Given the description of an element on the screen output the (x, y) to click on. 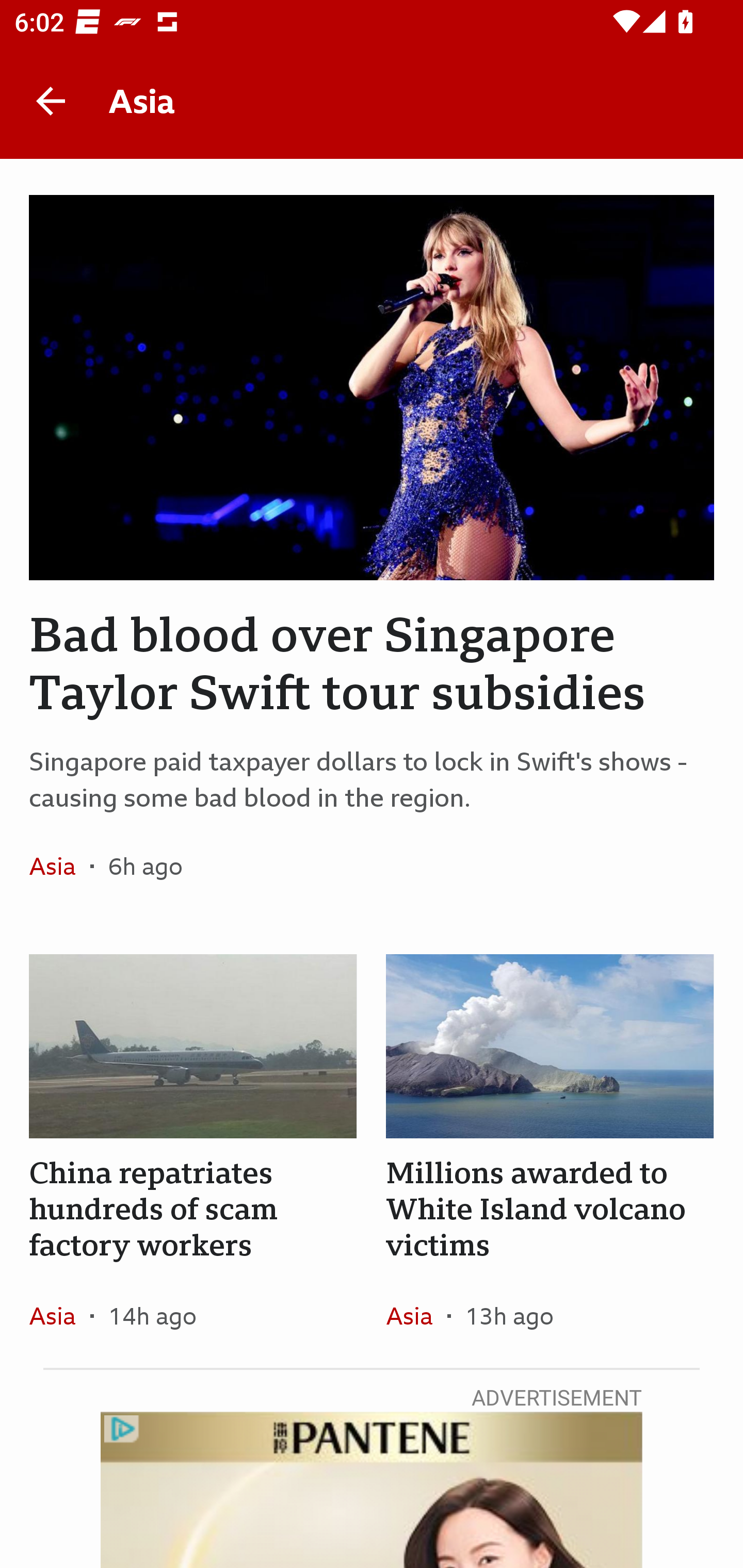
Back (50, 101)
Asia In the section Asia (59, 865)
Asia In the section Asia (59, 1315)
Asia In the section Asia (416, 1315)
index javascript:window.open(window (371, 1489)
javascript:window.open(window (371, 1489)
